Given the description of an element on the screen output the (x, y) to click on. 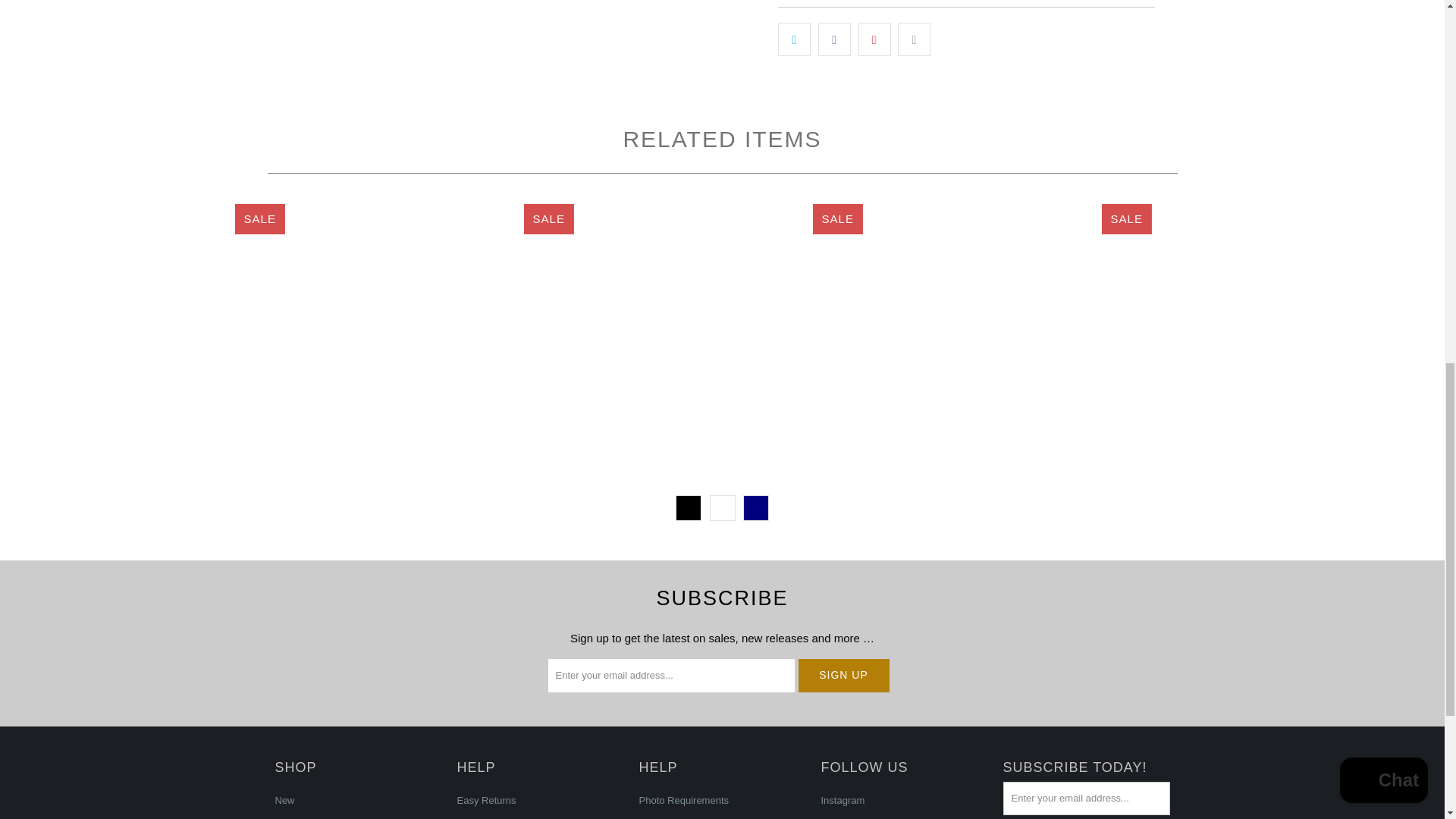
Sign Up (842, 675)
